Given the description of an element on the screen output the (x, y) to click on. 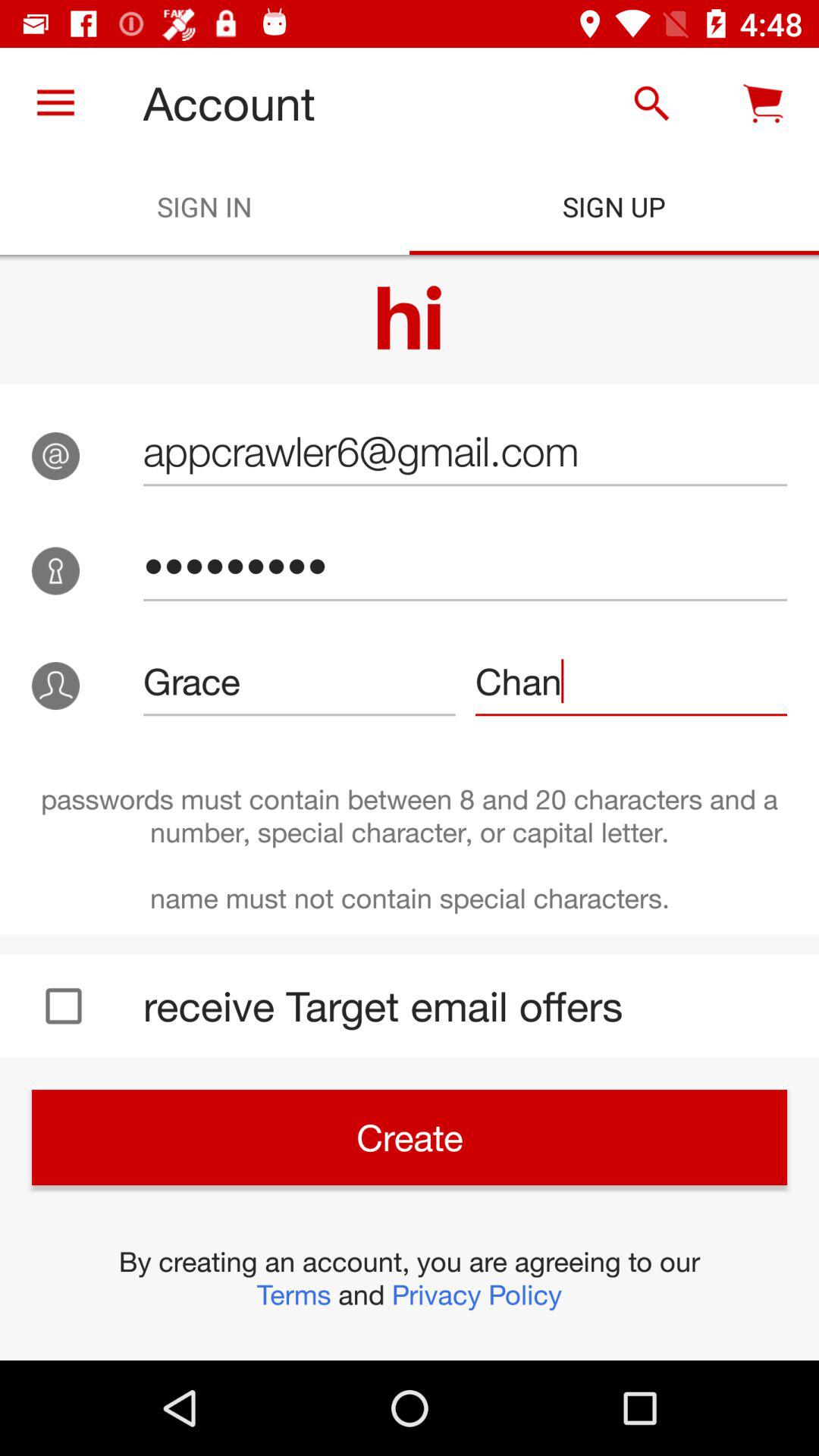
flip to the create icon (409, 1137)
